Given the description of an element on the screen output the (x, y) to click on. 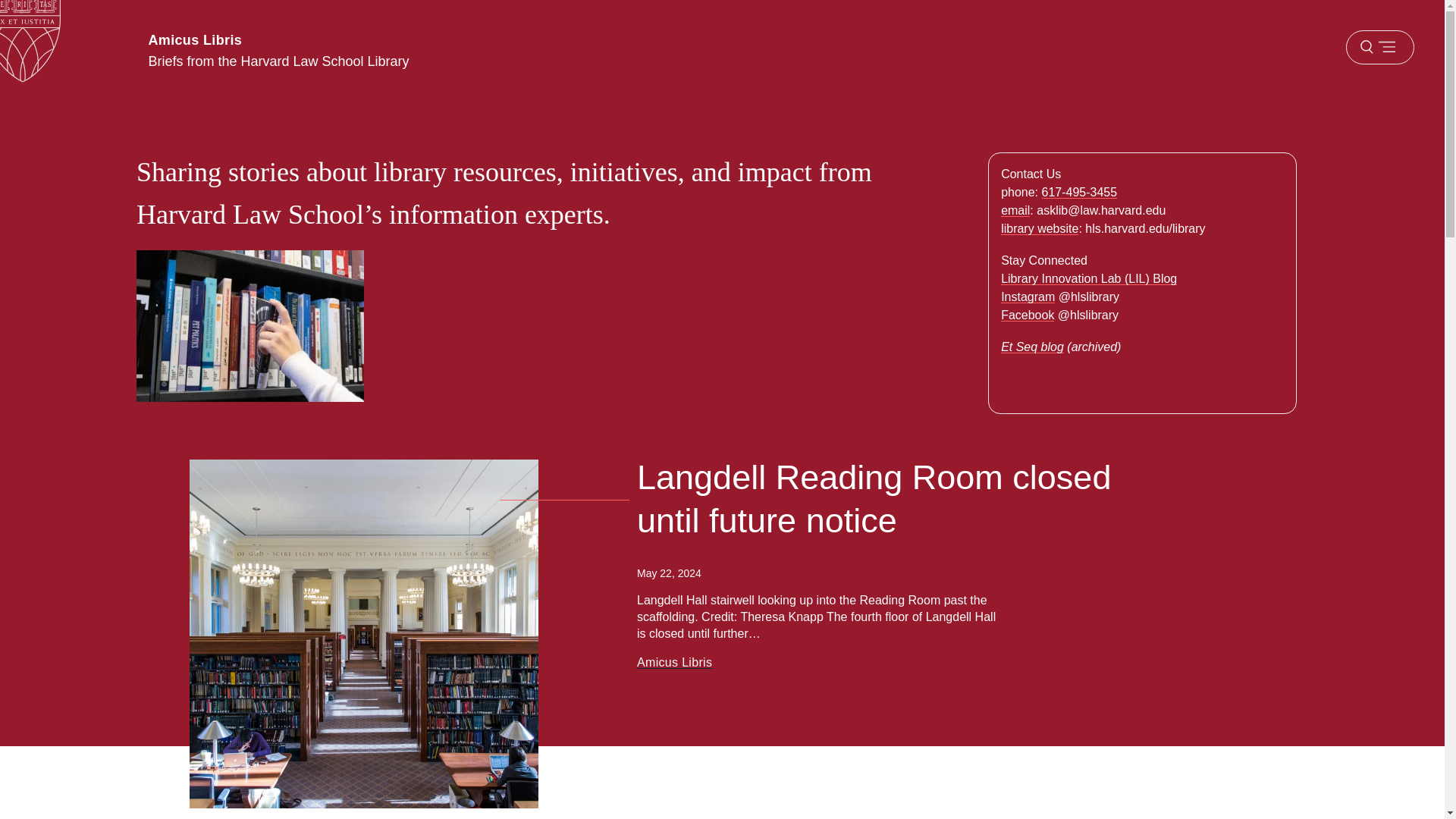
Open menu (1379, 47)
